Given the description of an element on the screen output the (x, y) to click on. 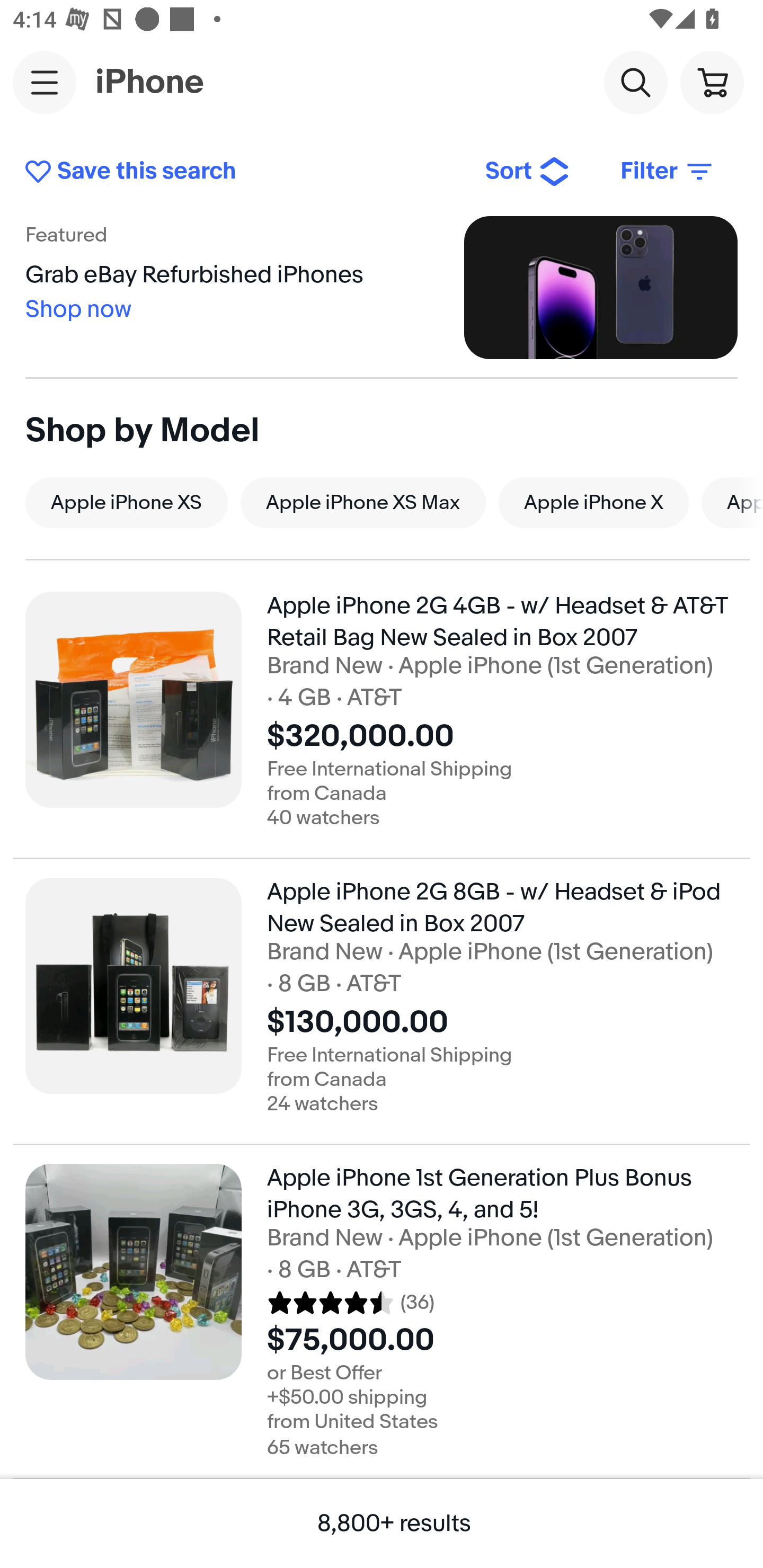
Main navigation, open (44, 82)
Search (635, 81)
Cart button shopping cart (711, 81)
Save this search (241, 171)
Sort (527, 171)
Filter (667, 171)
Featured Grab eBay Refurbished iPhones Shop now (381, 287)
Apple iPhone XS Apple iPhone XS, Model (126, 502)
Apple iPhone XS Max Apple iPhone XS Max, Model (363, 502)
Apple iPhone X Apple iPhone X, Model (593, 502)
